Given the description of an element on the screen output the (x, y) to click on. 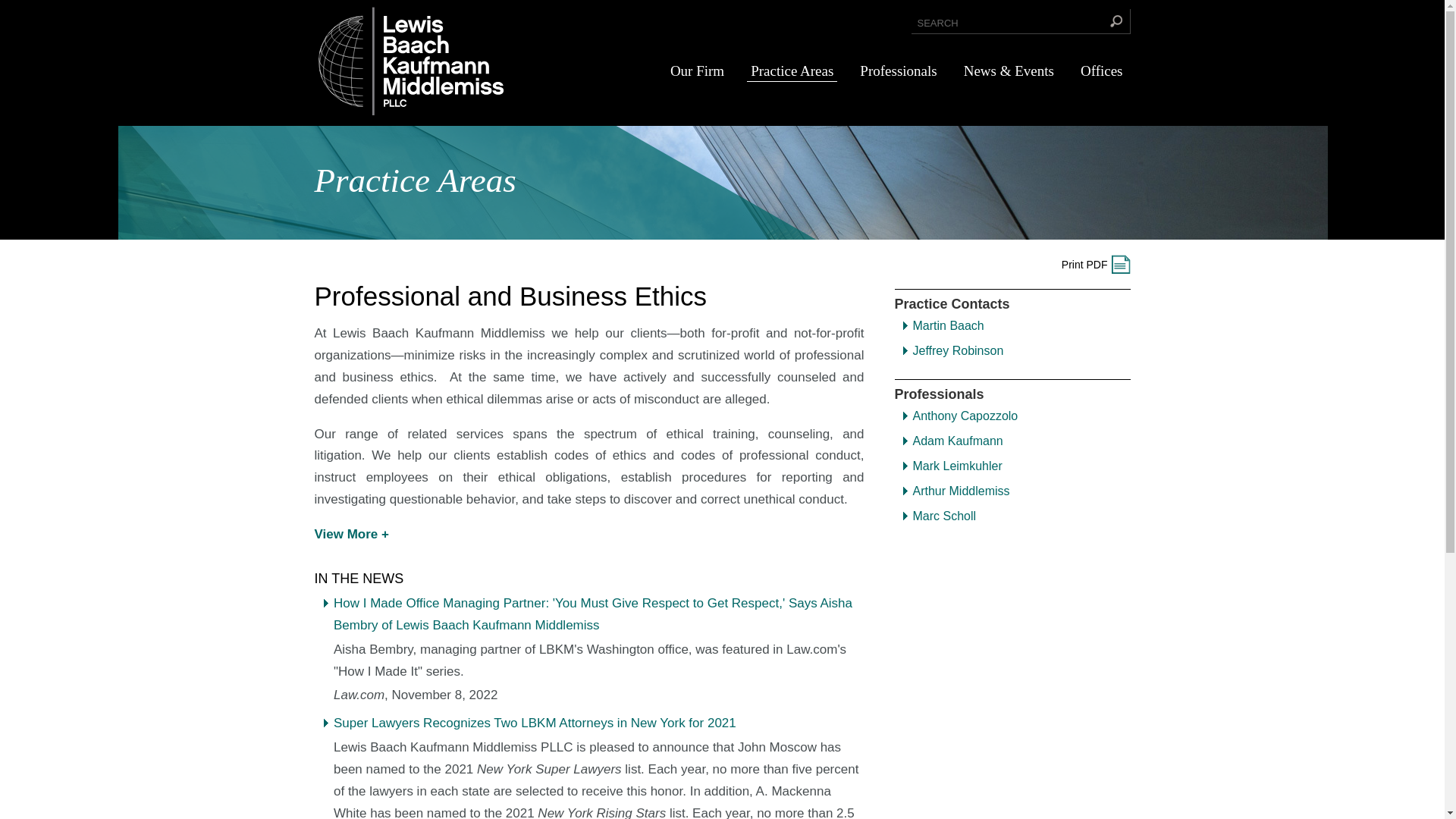
Arthur Middlemiss (961, 490)
Adam Kaufmann (957, 440)
Martin Baach (948, 325)
Mark Leimkuhler (957, 465)
Jeffrey Robinson (958, 350)
Our Firm (697, 70)
Print PDF (1096, 264)
Anthony Capozzolo (964, 415)
Marc Scholl (944, 515)
Practice Areas (791, 70)
